Given the description of an element on the screen output the (x, y) to click on. 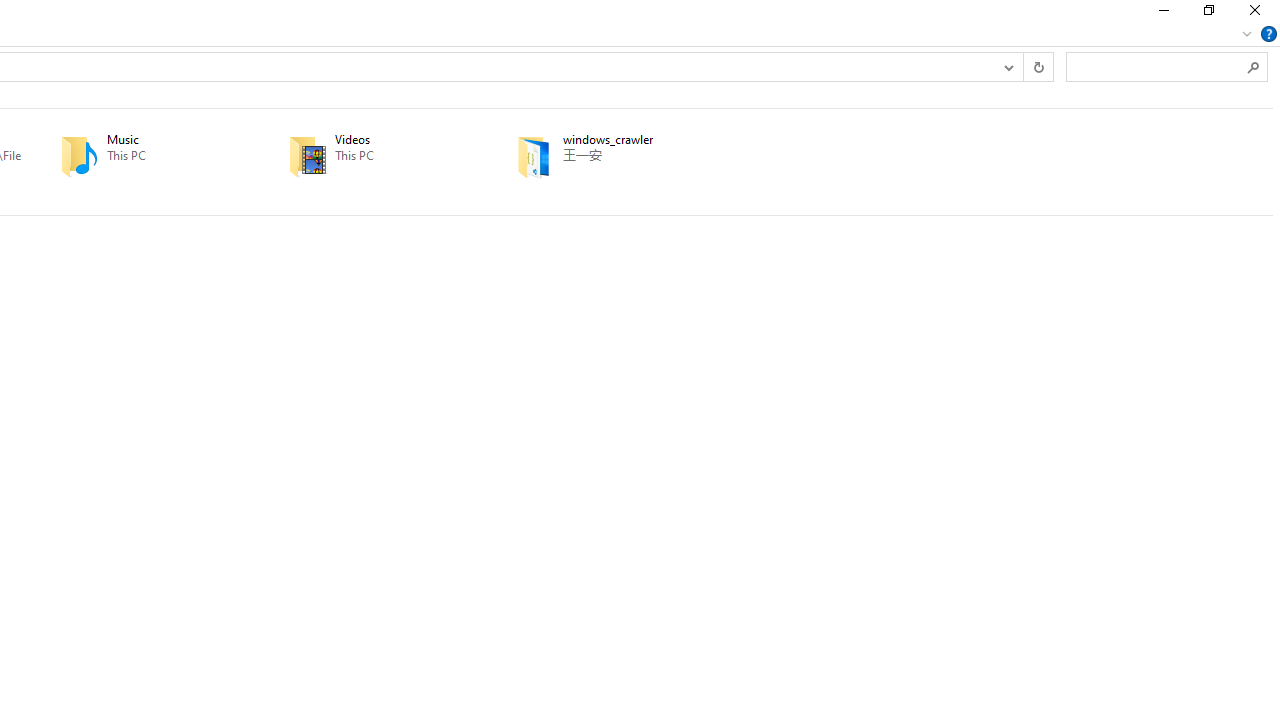
Pinned (635, 170)
Refresh "Quick access" (F5) (1037, 66)
Class: UIImage (534, 155)
Search Box (1156, 66)
Search (1253, 66)
Minimize the Ribbon (1247, 33)
Minimize (1162, 14)
Music (146, 156)
Restore (1208, 14)
Name (635, 139)
Path (635, 155)
Address band toolbar (1023, 66)
Previous Locations (1007, 66)
windows_crawler (602, 156)
Help (1269, 33)
